Given the description of an element on the screen output the (x, y) to click on. 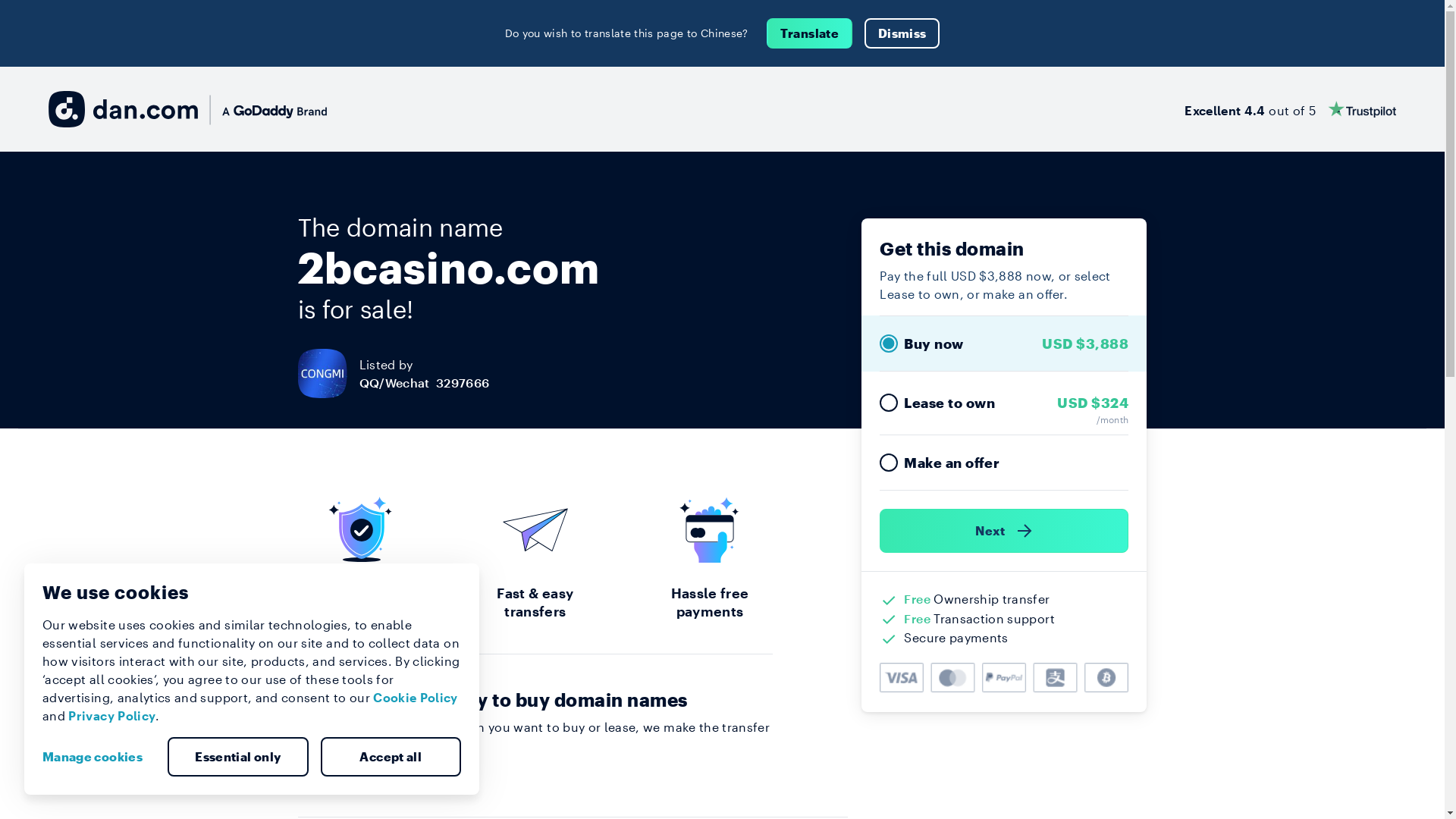
Translate Element type: text (809, 33)
Excellent 4.4 out of 5 Element type: text (1290, 109)
Cookie Policy Element type: text (415, 697)
Essential only Element type: text (237, 756)
Manage cookies Element type: text (98, 756)
Accept all Element type: text (390, 756)
Next
) Element type: text (1003, 530)
Dismiss Element type: text (901, 33)
Privacy Policy Element type: text (111, 715)
